Given the description of an element on the screen output the (x, y) to click on. 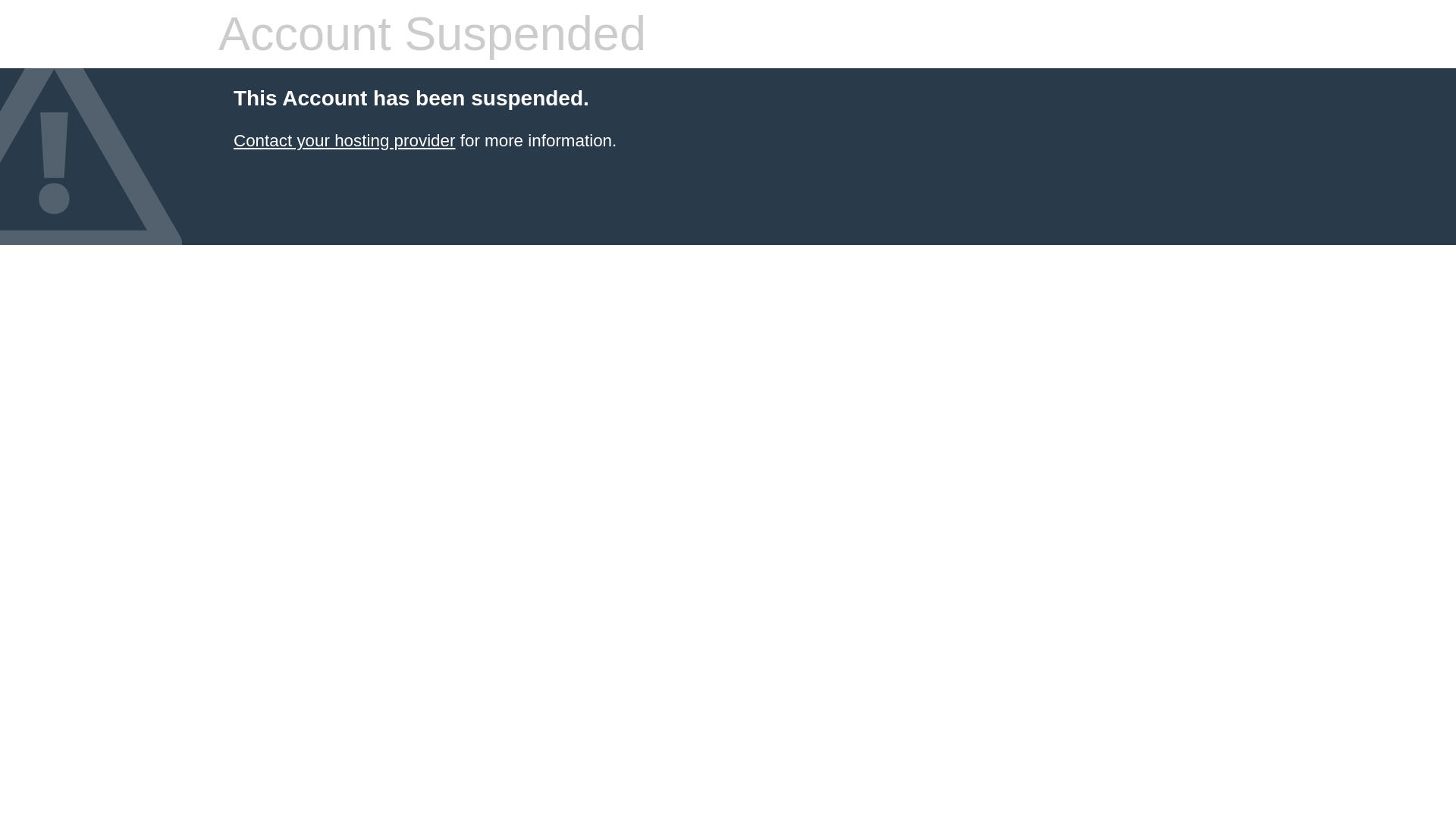
Contact your hosting provider (343, 140)
